Given the description of an element on the screen output the (x, y) to click on. 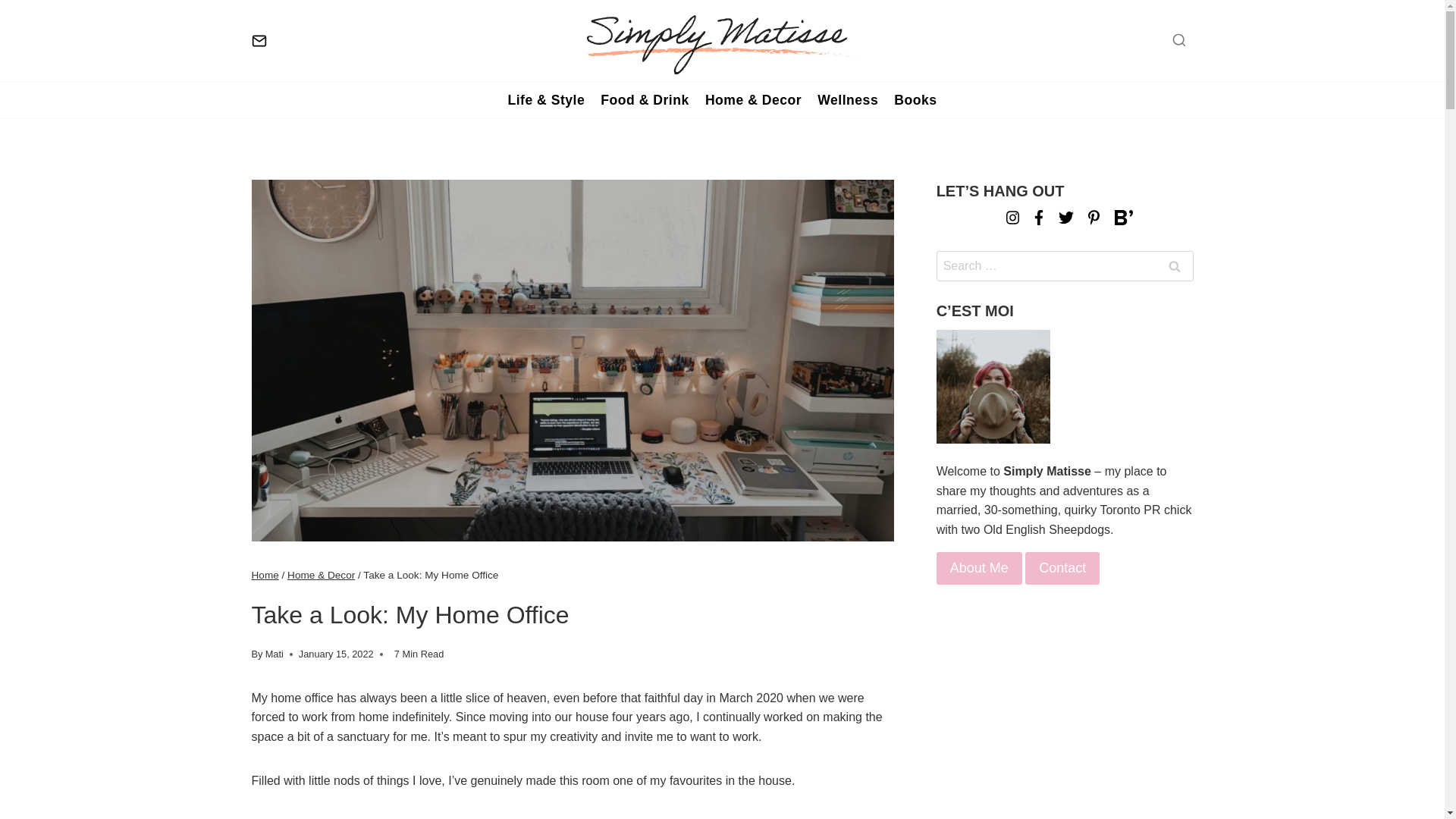
Search (1174, 265)
Search (1174, 265)
Wellness (847, 99)
Home (265, 574)
Books (915, 99)
